Given the description of an element on the screen output the (x, y) to click on. 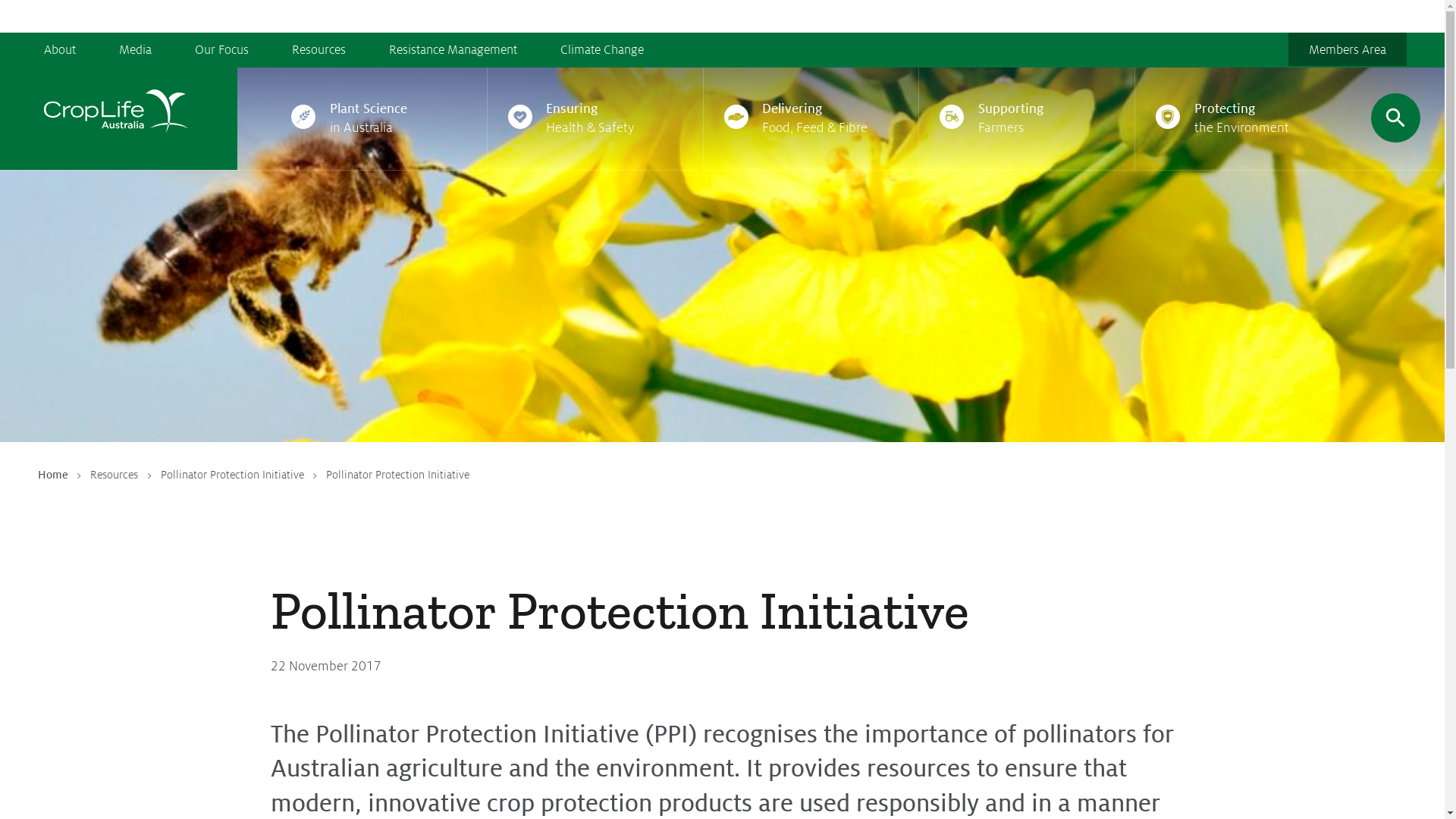
Pollinator Protection Initiative Element type: text (232, 474)
Supporting
Farmers Element type: text (1026, 118)
Members Area Element type: text (1347, 48)
Delivering
Food, Feed & Fibre Element type: text (811, 118)
Resources Element type: text (114, 474)
Resistance Management Element type: text (452, 48)
About Element type: text (69, 48)
Climate Change Element type: text (601, 48)
Ensuring
Health & Safety Element type: text (594, 118)
Protecting
the Environment Element type: text (1242, 118)
Media Element type: text (135, 48)
Go back to the homepage Element type: hover (115, 117)
Plant Science
in Australia Element type: text (378, 118)
Our Focus Element type: text (221, 48)
Resources Element type: text (318, 48)
Home Element type: text (52, 474)
